Given the description of an element on the screen output the (x, y) to click on. 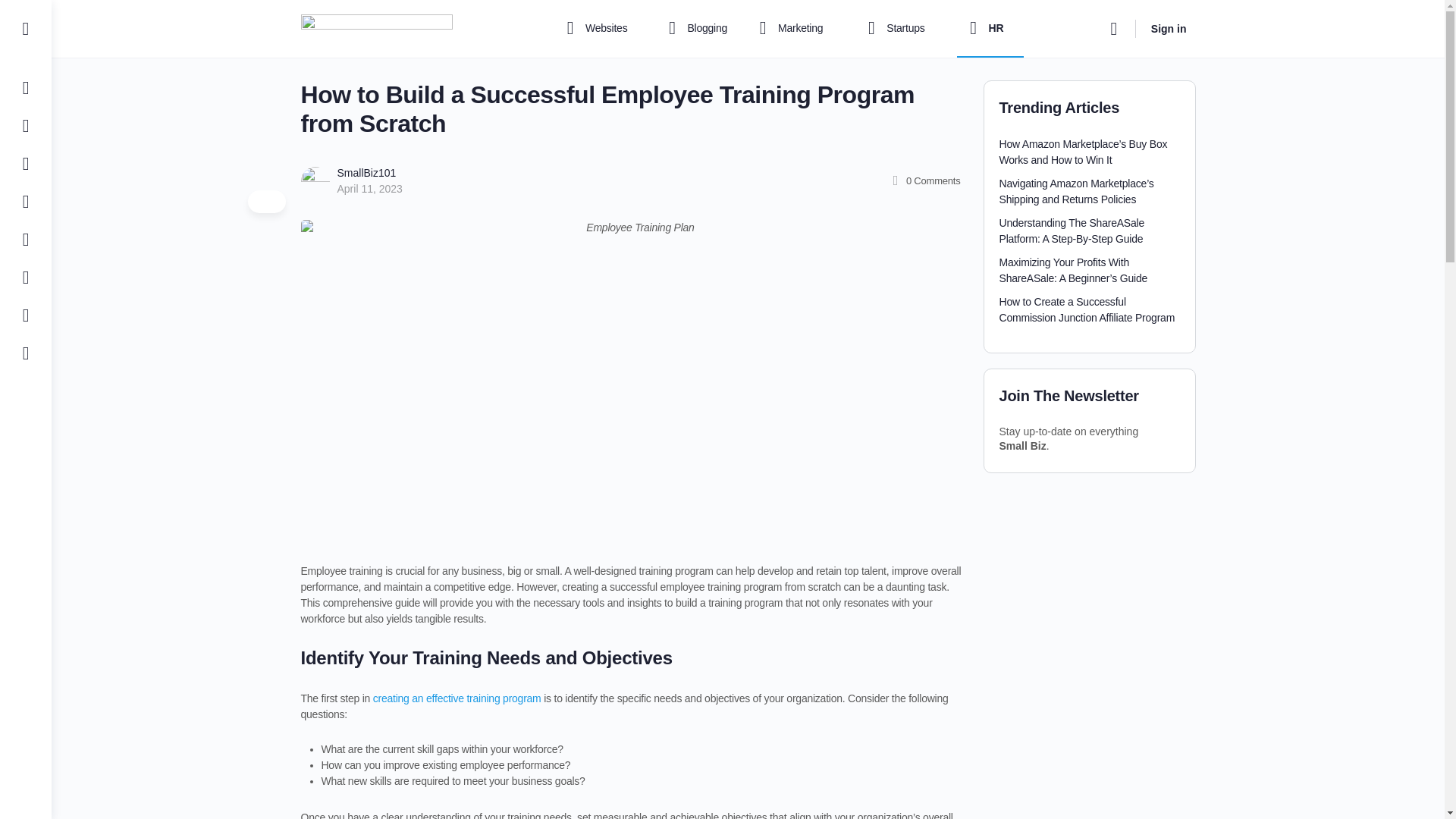
Startups (899, 28)
Sign in (1168, 28)
Marketing (794, 28)
Websites (600, 28)
Blogging (695, 28)
HR (990, 28)
